Given the description of an element on the screen output the (x, y) to click on. 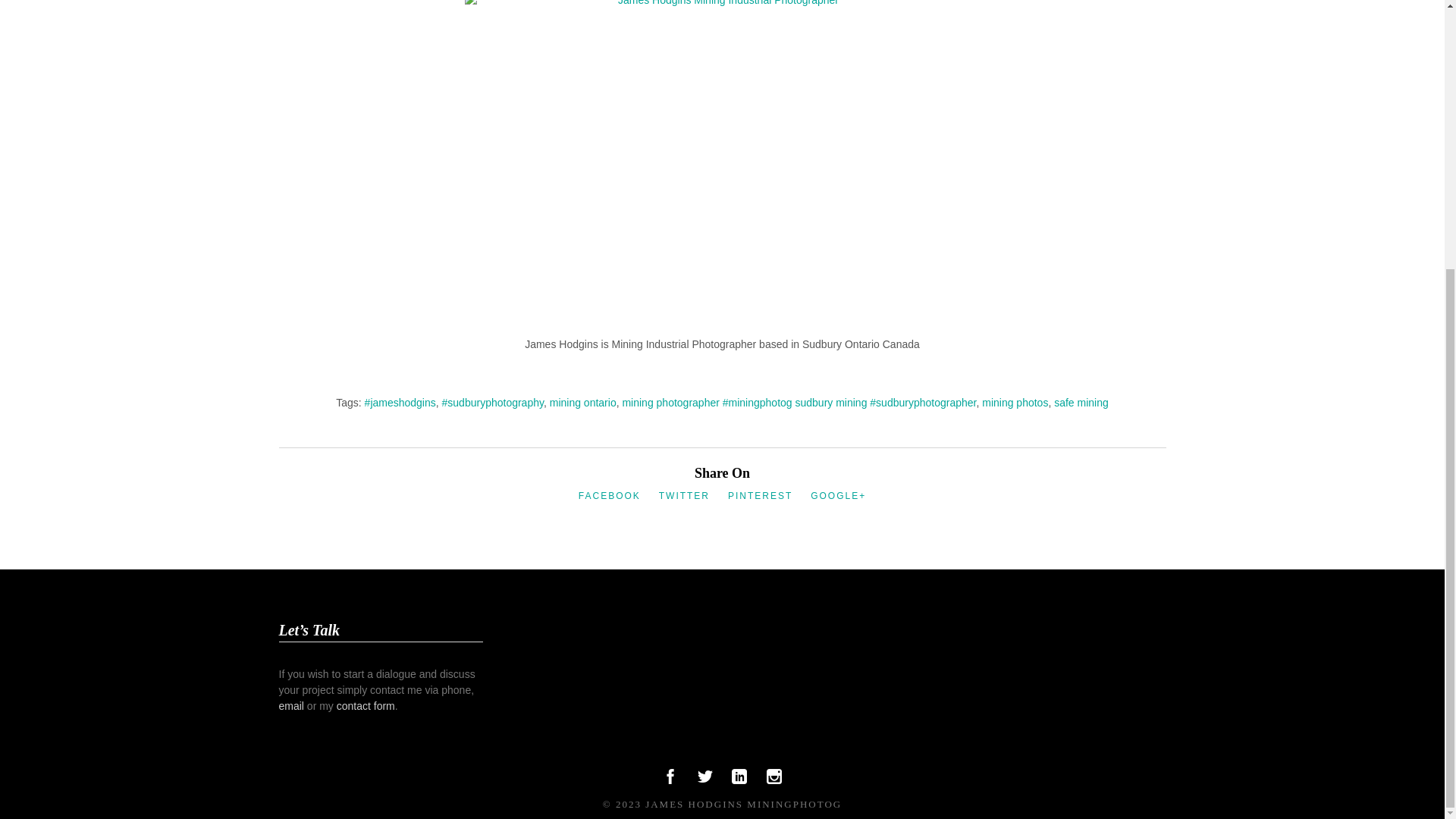
Linkedin (739, 780)
mining ontario (582, 401)
mining photos (1014, 401)
Instagram (774, 780)
